Given the description of an element on the screen output the (x, y) to click on. 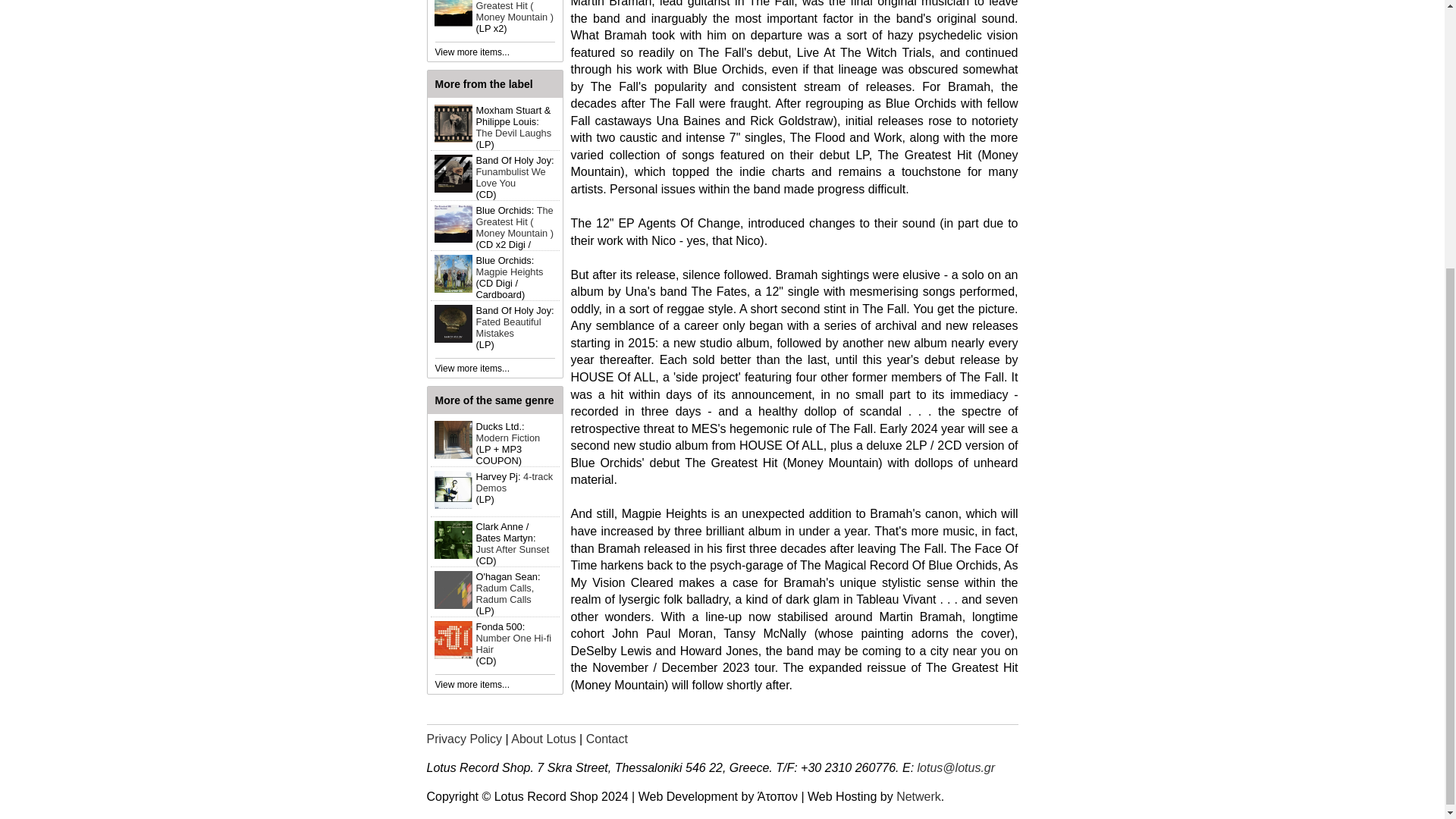
The Devil Laughs (513, 132)
Just After Sunset (513, 549)
View more items... (472, 368)
About Lotus (543, 738)
4-track Demos (514, 481)
Modern Fiction (508, 437)
Magpie Heights (509, 271)
View more items... (472, 51)
Fated Beautiful Mistakes (508, 327)
Contact (606, 738)
Radum Calls, Radum Calls (505, 593)
View more items... (472, 684)
Privacy Policy (464, 738)
Number One Hi-fi Hair (513, 643)
Funambulist We Love You (511, 177)
